Given the description of an element on the screen output the (x, y) to click on. 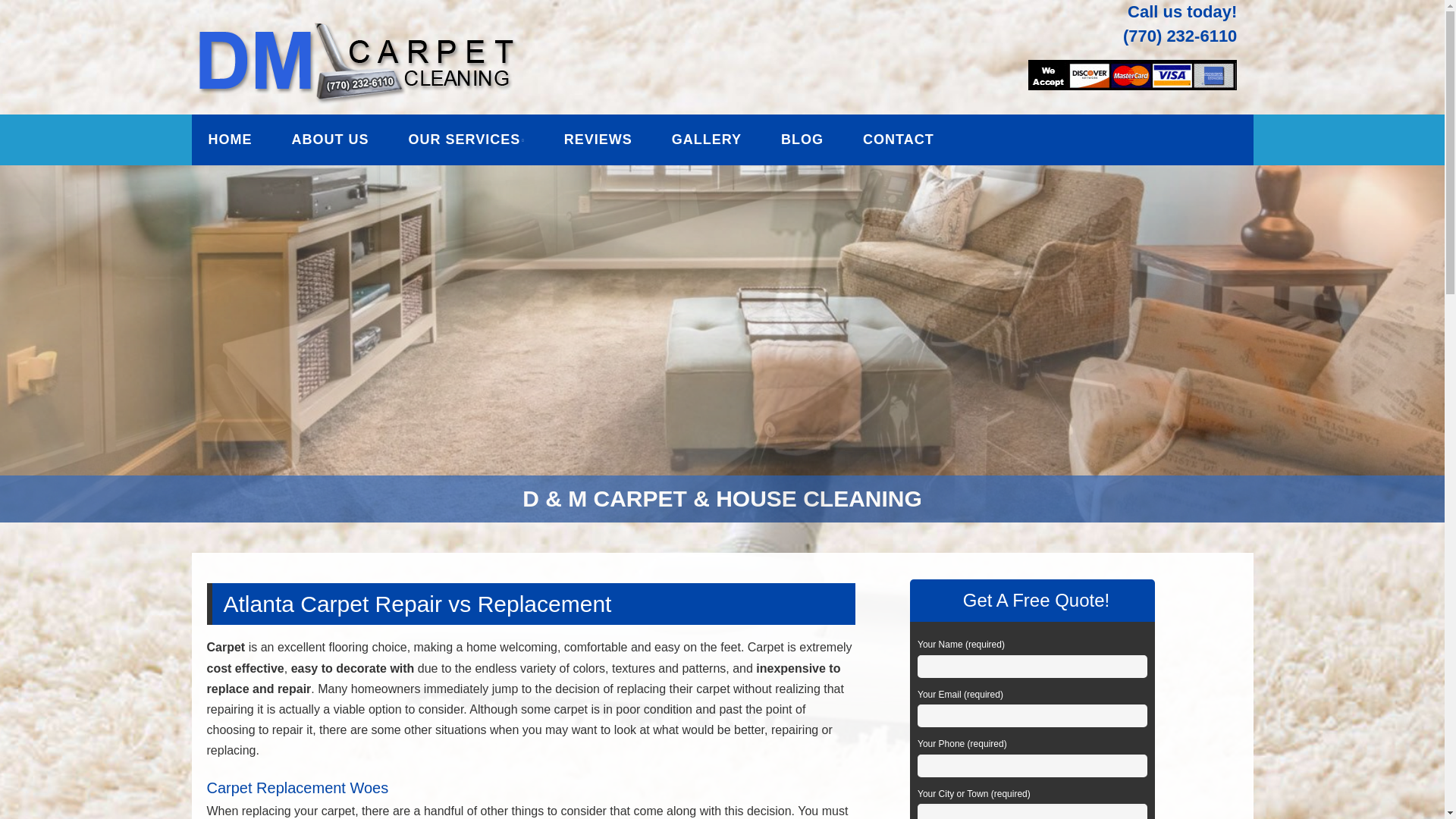
ABOUT US (329, 140)
D M CARPET CLEANING (382, 35)
HOME (229, 140)
REVIEWS (598, 140)
BLOG (802, 140)
CONTACT (899, 140)
D M Carpet Cleaning (382, 35)
GALLERY (706, 140)
OUR SERVICES (465, 140)
